Given the description of an element on the screen output the (x, y) to click on. 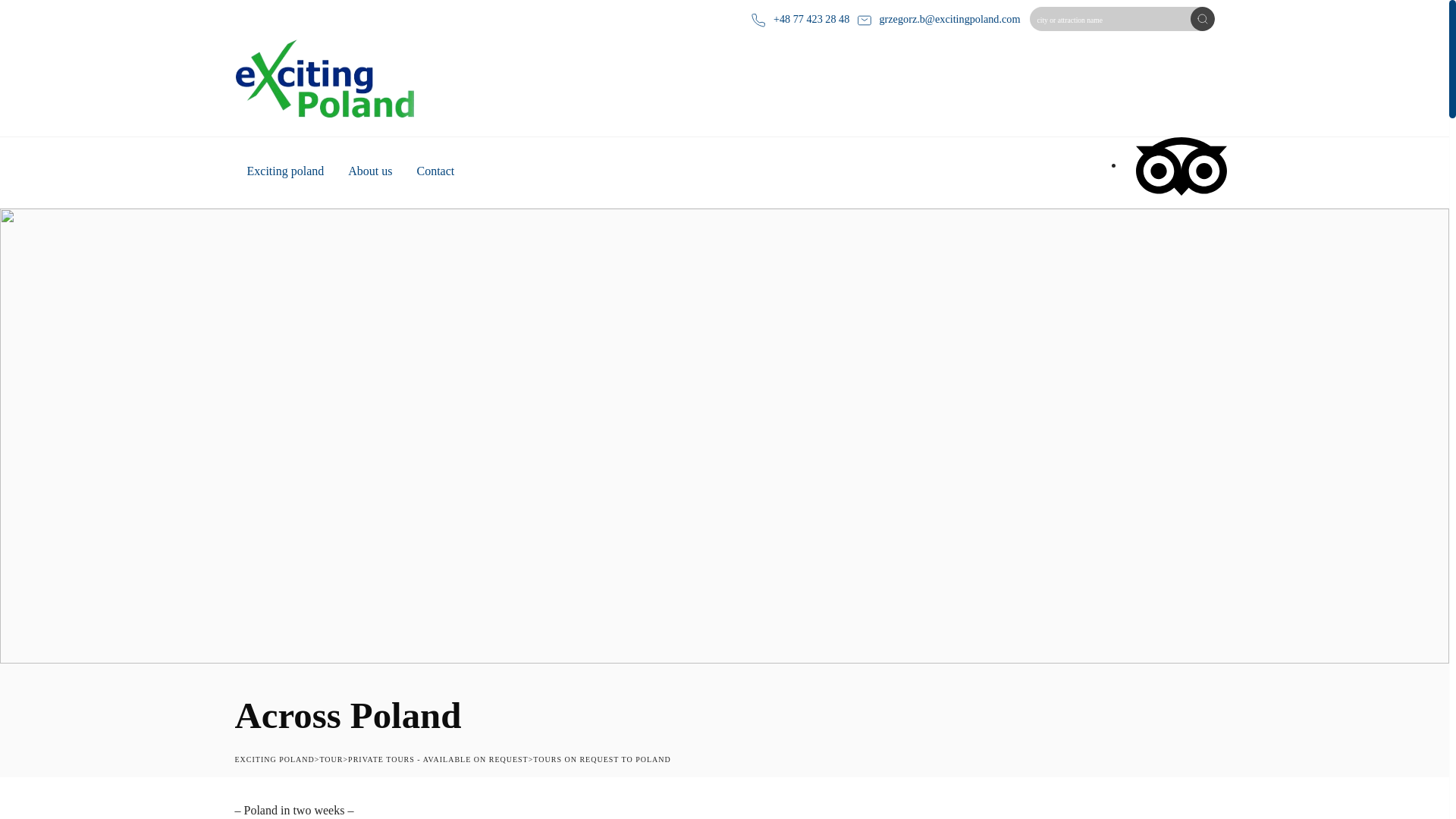
TOUR (330, 759)
TOURS ON REQUEST TO POLAND (600, 759)
About us (370, 172)
Exciting poland (285, 172)
EXCITING POLAND (274, 759)
Go to exciting poland. (274, 759)
Search (1202, 18)
Contact (435, 172)
Go to Tour. (330, 759)
